Given the description of an element on the screen output the (x, y) to click on. 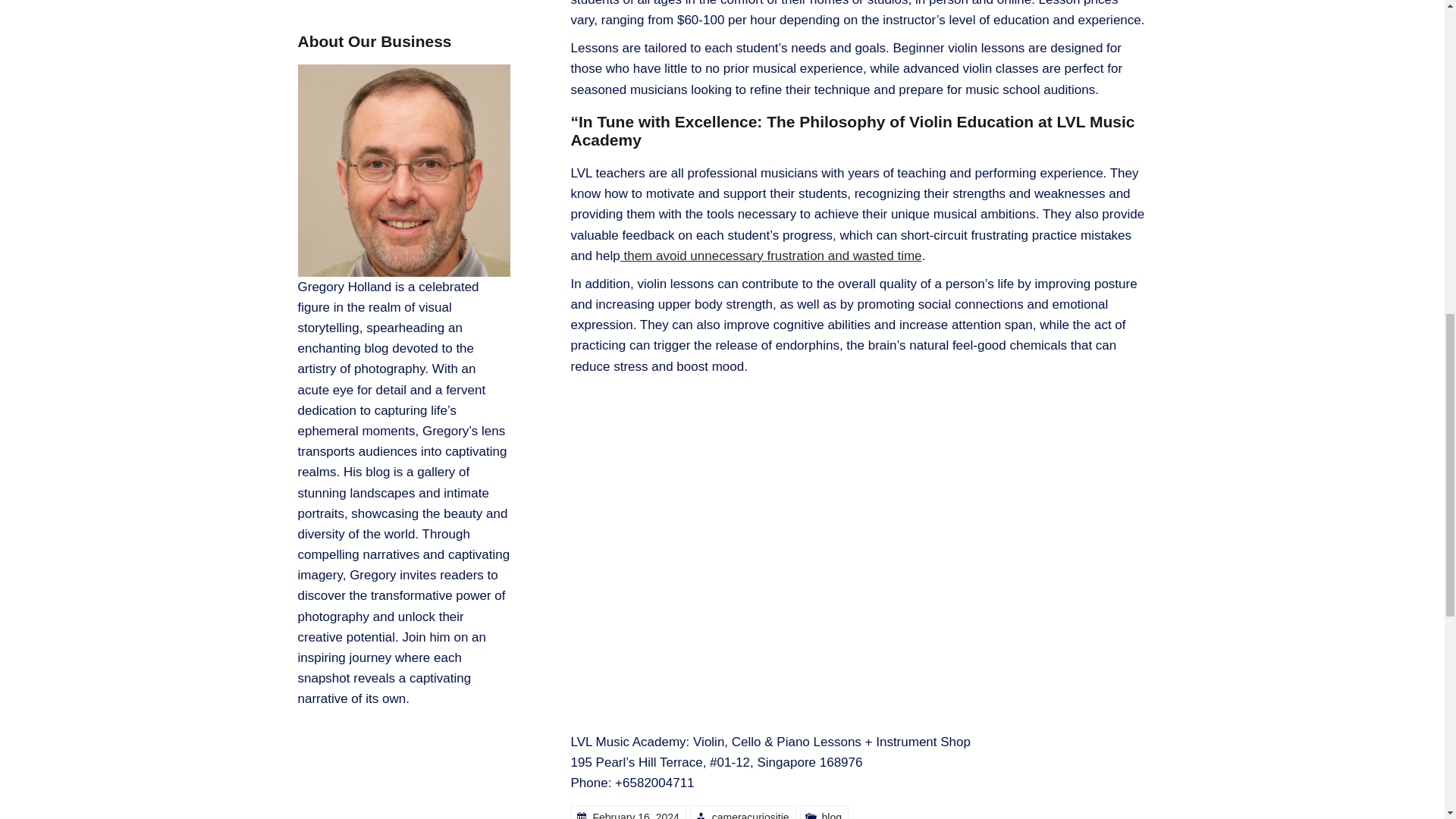
them avoid unnecessary frustration and wasted time (770, 255)
February 16, 2024 (635, 815)
blog (831, 815)
cameracuriositie (750, 815)
